Given the description of an element on the screen output the (x, y) to click on. 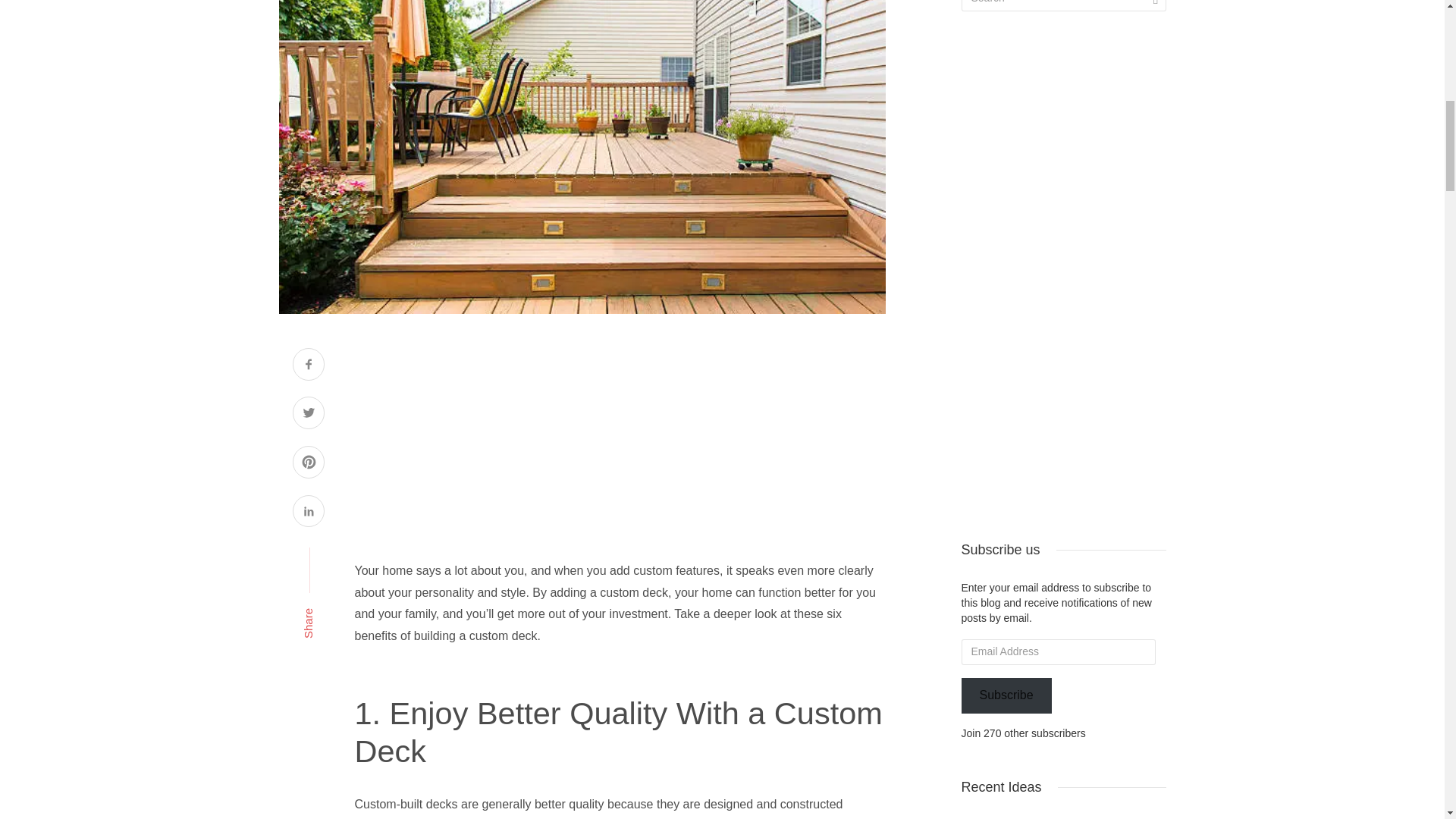
Share on Facebook (308, 366)
Share on Twitter (308, 414)
Share on Linkedin (308, 513)
Share on Pinterest (308, 463)
Advertisement (620, 454)
